Given the description of an element on the screen output the (x, y) to click on. 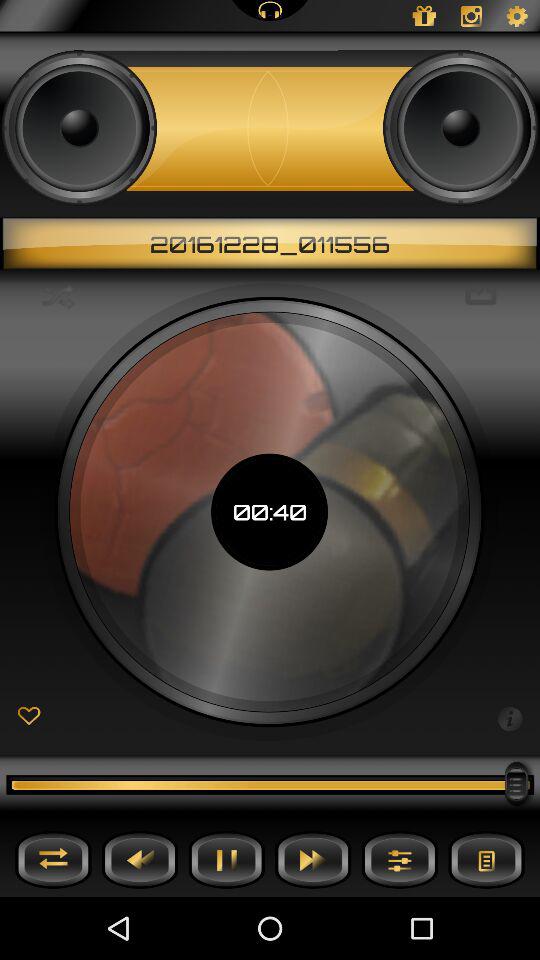
press the item to the left of the 00:40 (58, 296)
